Given the description of an element on the screen output the (x, y) to click on. 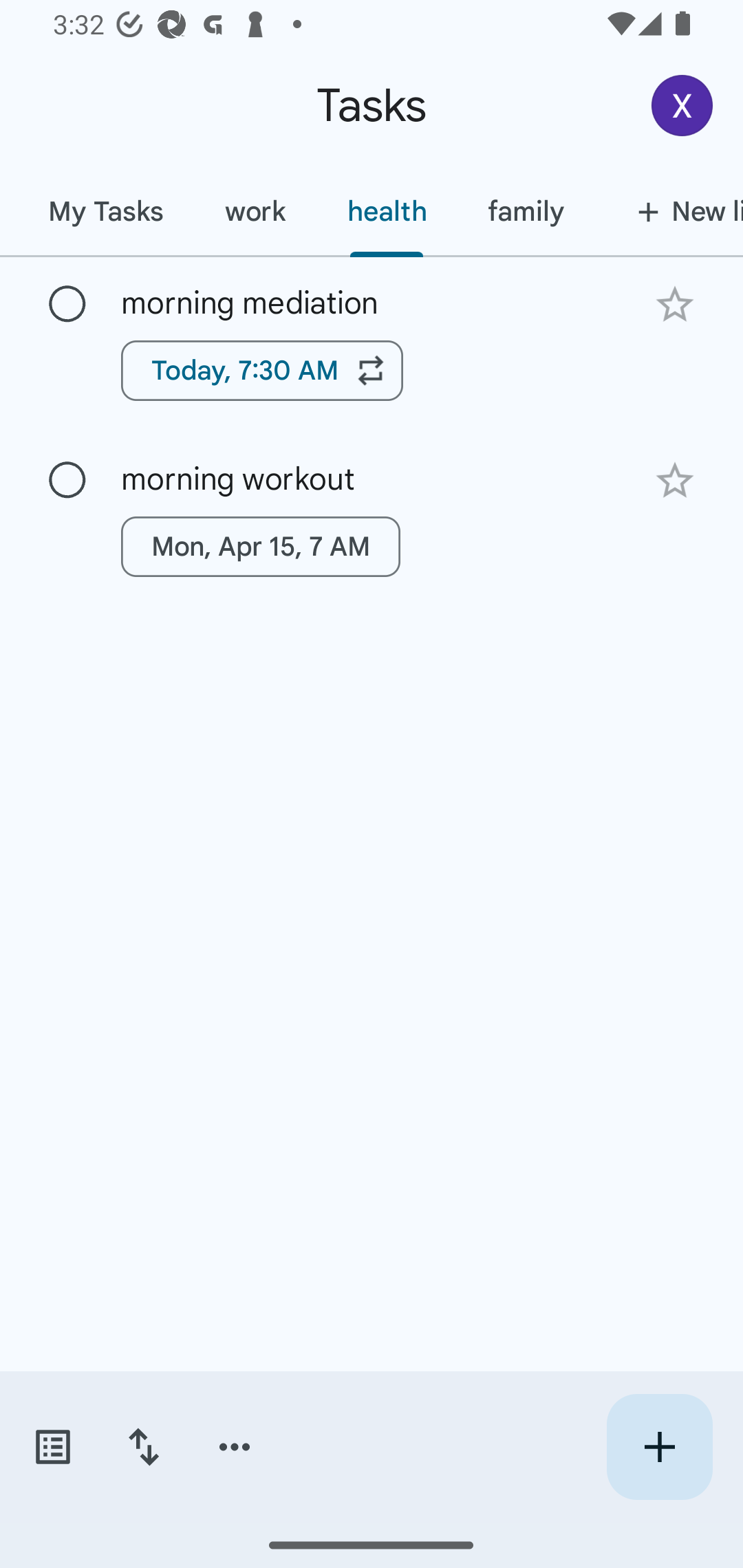
My Tasks (105, 211)
work (254, 211)
family (525, 211)
New list (669, 211)
Add star (674, 303)
Mark as complete (67, 304)
Today, 7:30 AM (262, 369)
Add star (674, 480)
Mark as complete (67, 480)
Mon, Apr 15, 7 AM (260, 546)
Switch task lists (52, 1447)
Create new task (659, 1446)
Change sort order (143, 1446)
More options (234, 1446)
